Given the description of an element on the screen output the (x, y) to click on. 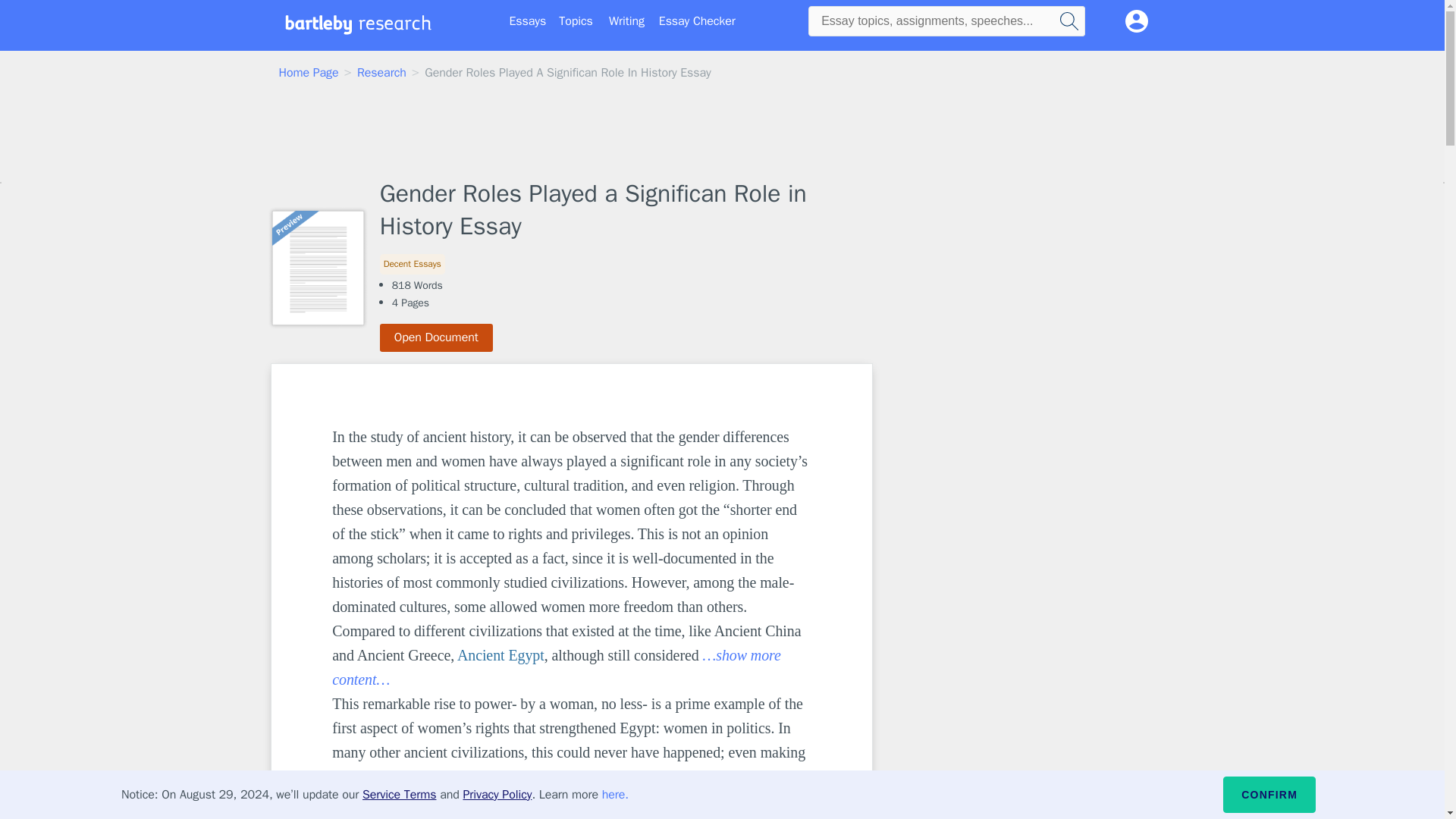
Topics (575, 20)
Essay Checker (697, 20)
Writing (626, 20)
Ancient Egypt (500, 655)
Research (381, 72)
Open Document (436, 337)
Essays (528, 20)
Home Page (309, 72)
